Given the description of an element on the screen output the (x, y) to click on. 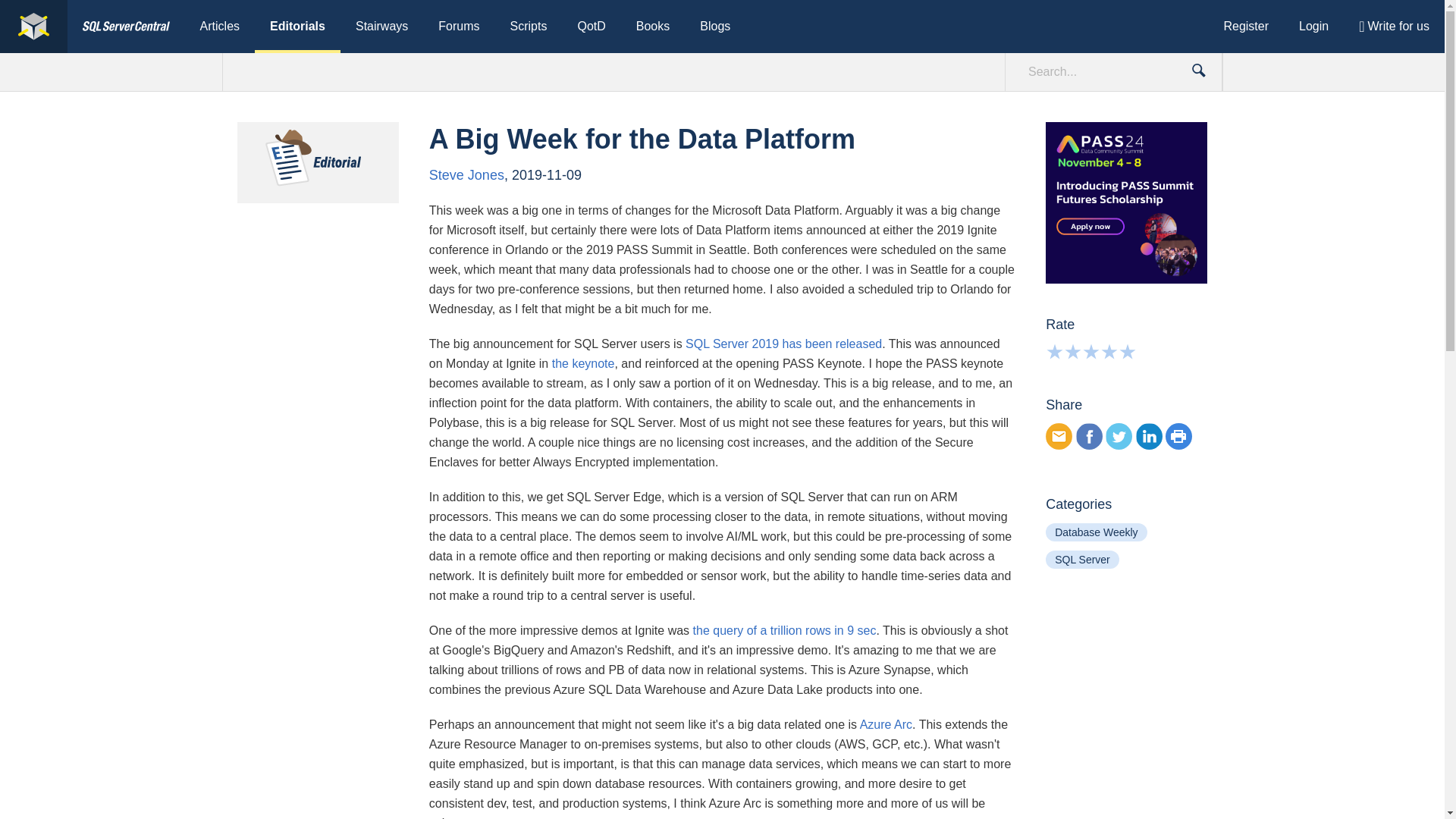
Forums (459, 26)
Login (1313, 26)
Share on LinkedIn (1148, 436)
Editorials (297, 26)
Books (652, 26)
Share on Facebook (1088, 436)
Steve Jones (466, 174)
Tweet (1118, 436)
Stairways (381, 26)
SQL Server 2019 has been released (783, 343)
